Given the description of an element on the screen output the (x, y) to click on. 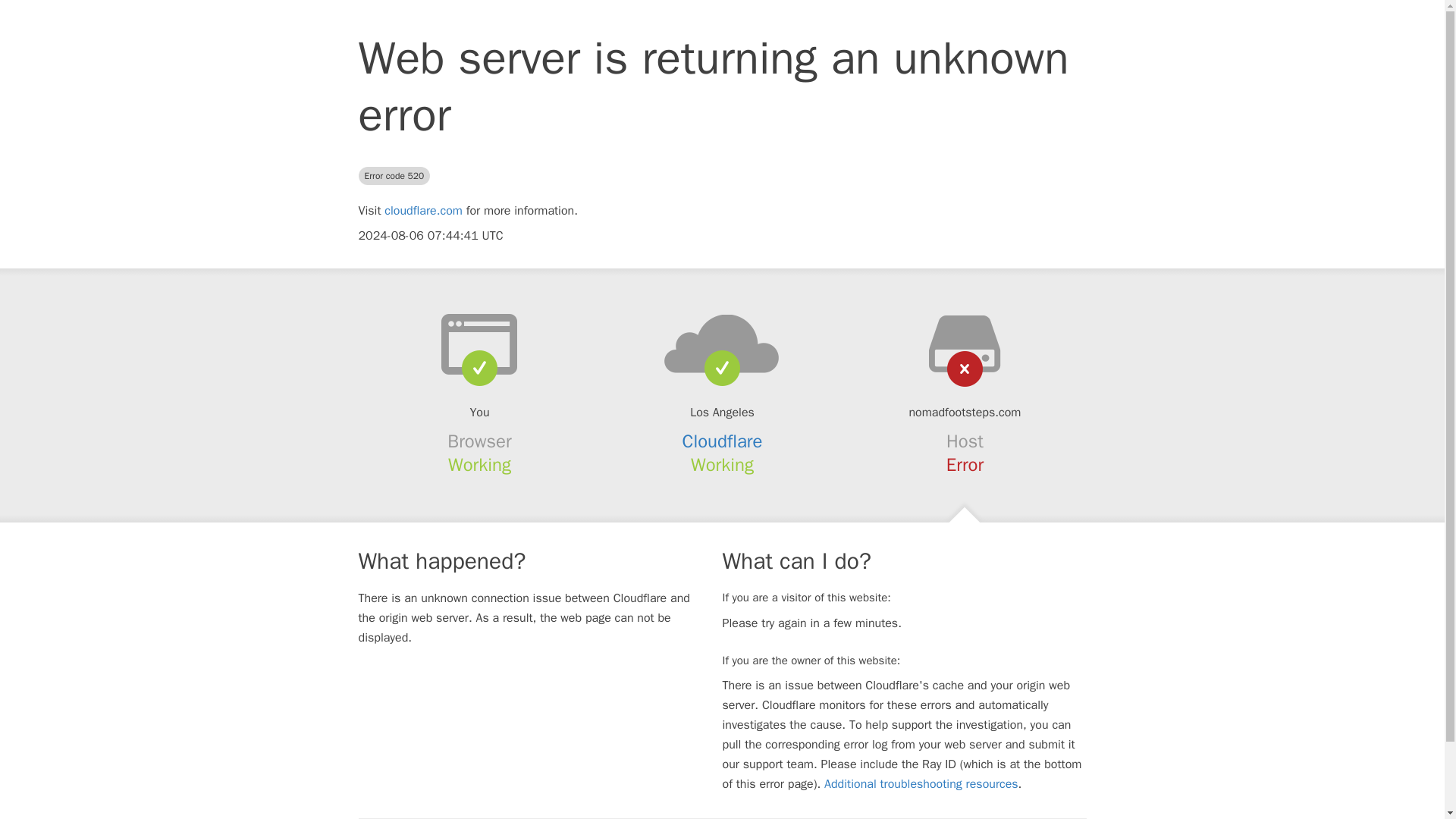
Cloudflare (722, 440)
cloudflare.com (423, 210)
Additional troubleshooting resources (920, 783)
